Given the description of an element on the screen output the (x, y) to click on. 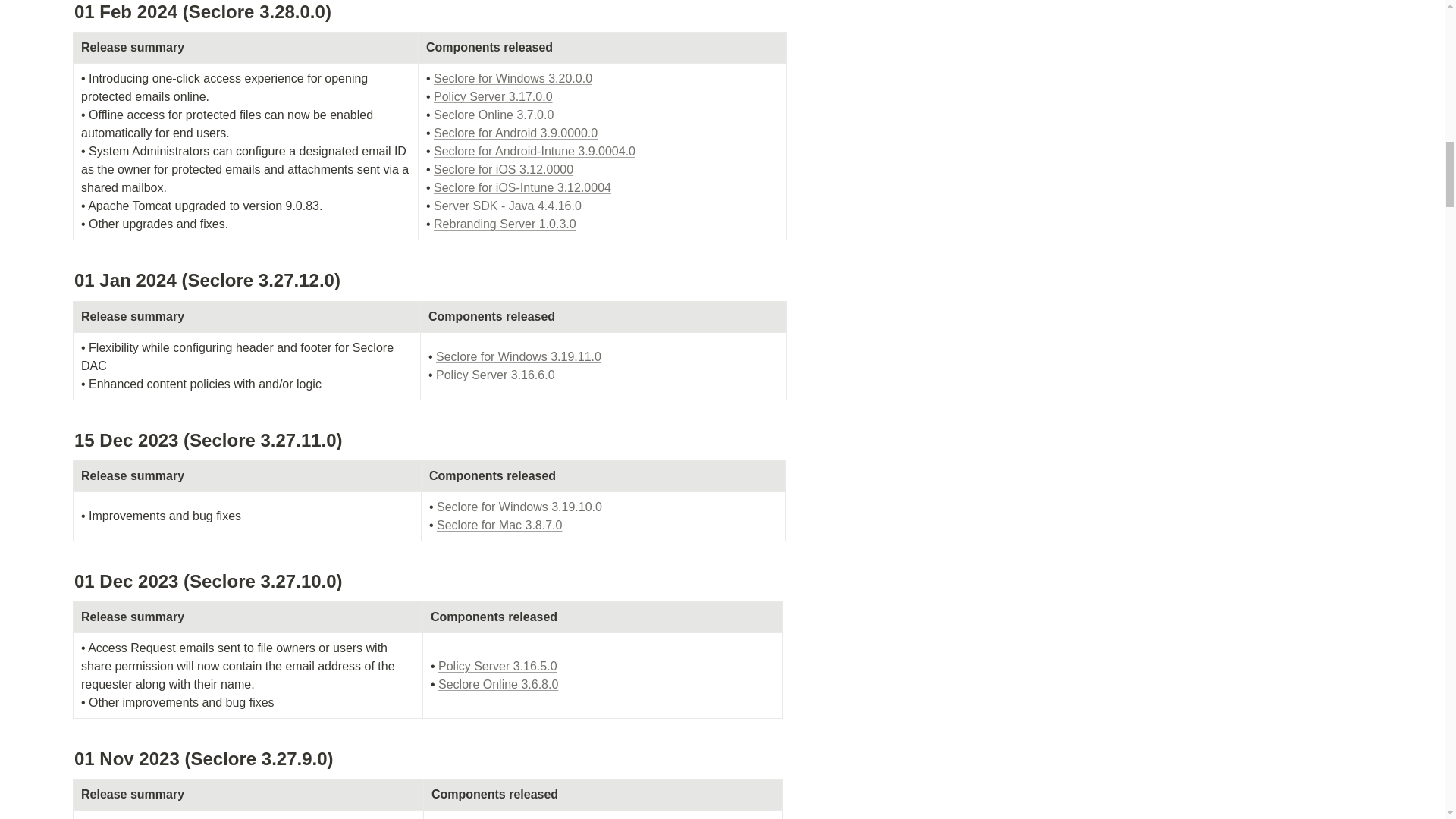
Seclore for Windows 3.19.11.0 (518, 356)
Seclore for Windows 3.19.10.0 (519, 506)
Seclore for Android 3.9.0000.0 (514, 132)
Policy Server 3.17.0.0 (493, 96)
Seclore for Windows 3.20.0.0 (512, 78)
Policy Server 3.16.5.0 (497, 666)
Seclore Online 3.7.0.0 (493, 114)
Seclore Online 3.6.8.0 (497, 684)
Seclore for iOS-Intune 3.12.0004 (522, 187)
Server SDK - Java 4.4.16.0 (506, 205)
